Given the description of an element on the screen output the (x, y) to click on. 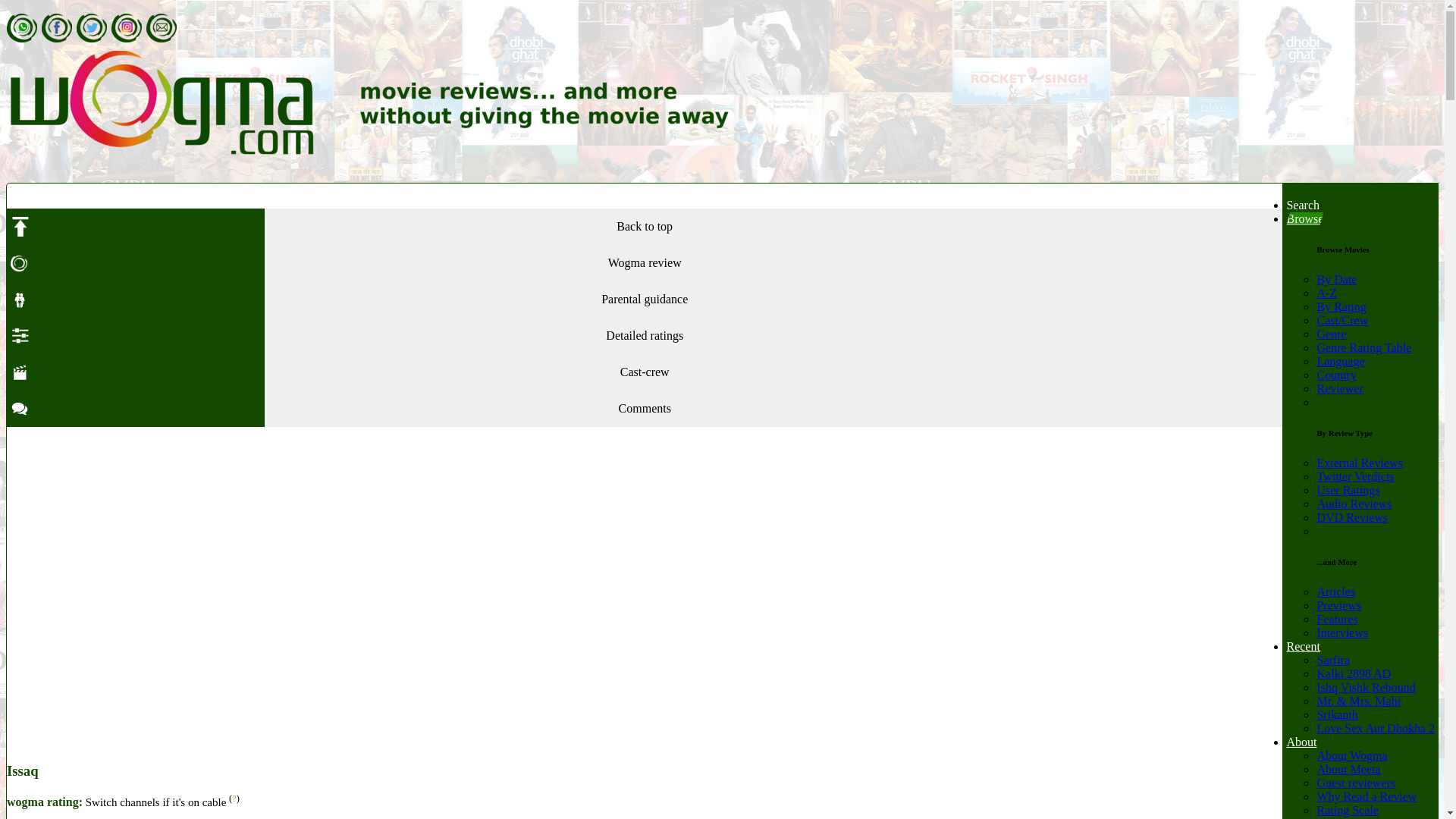
User Ratings (1347, 490)
About (1300, 741)
Sarfira (1332, 659)
Genre (1330, 333)
By Rating (1340, 306)
Rating Scale (1346, 809)
Guest reviewers (1355, 782)
Recent (1302, 645)
Kalki 2898 AD (1353, 673)
Previews (1338, 604)
Reviewer (1339, 388)
Interviews (1342, 632)
Language (1340, 360)
Country (1335, 374)
Search (1302, 205)
